Given the description of an element on the screen output the (x, y) to click on. 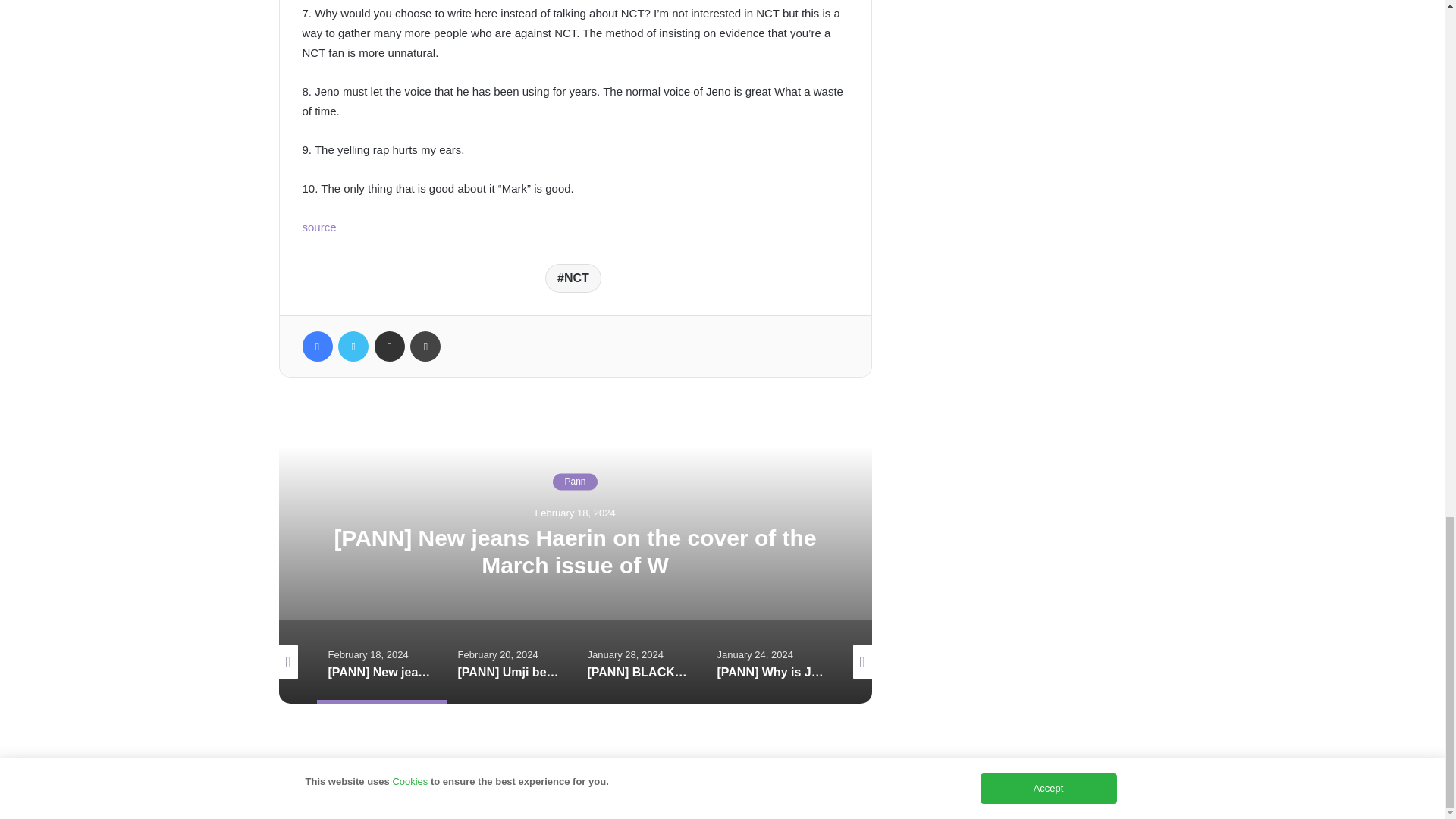
Share via Email (389, 346)
Twitter (352, 346)
Facebook (316, 346)
Share via Email (389, 346)
NCT (572, 277)
Facebook (316, 346)
Print (425, 346)
Print (425, 346)
Twitter (352, 346)
source (318, 226)
Pann (574, 481)
